Given the description of an element on the screen output the (x, y) to click on. 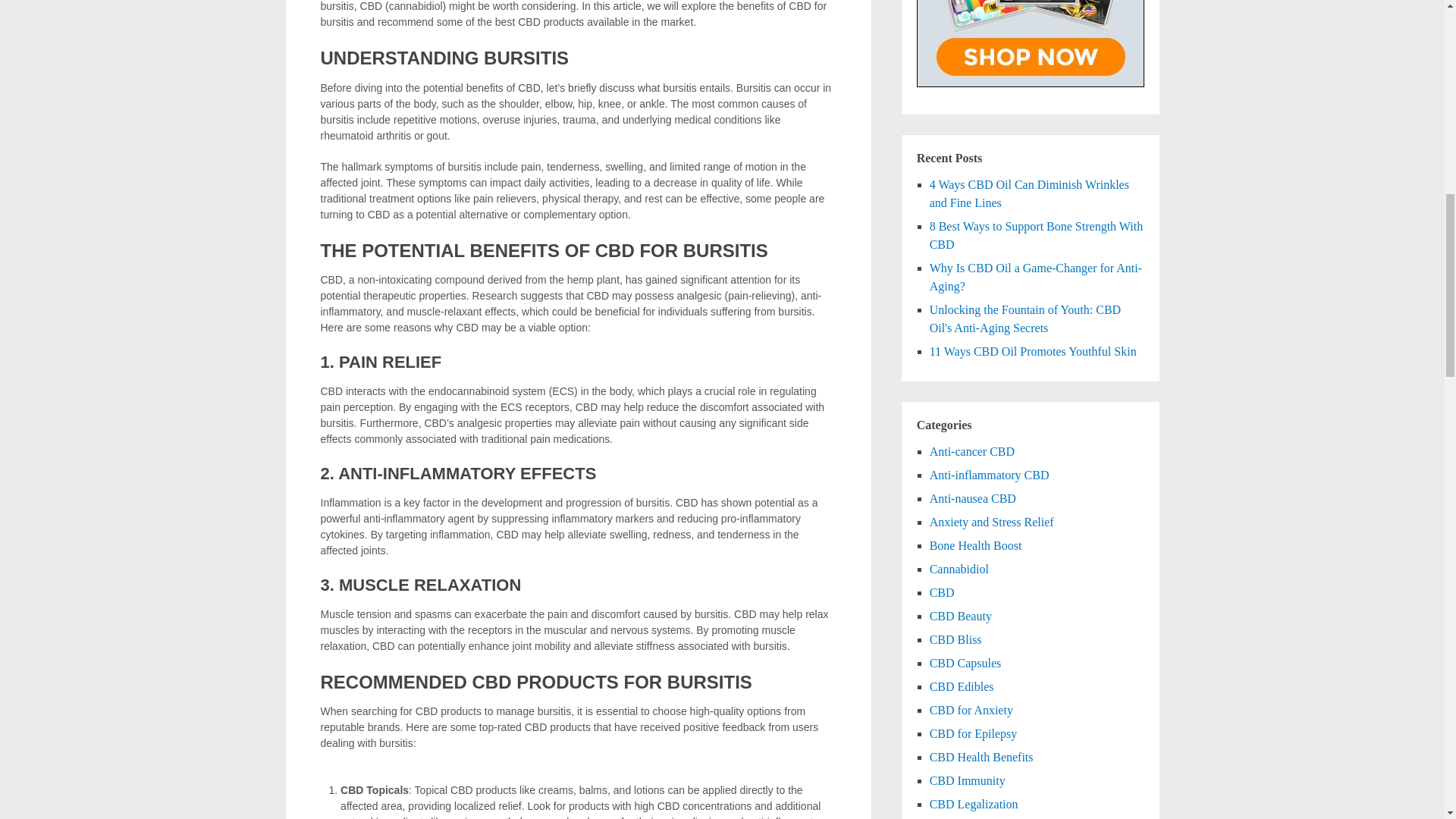
4 Ways CBD Oil Can Diminish Wrinkles and Fine Lines (1029, 193)
8 Best Ways to Support Bone Strength With CBD (1036, 235)
11 Ways CBD Oil Promotes Youthful Skin (1033, 350)
Why Is CBD Oil a Game-Changer for Anti-Aging? (1035, 276)
Anti-cancer CBD (972, 451)
